Given the description of an element on the screen output the (x, y) to click on. 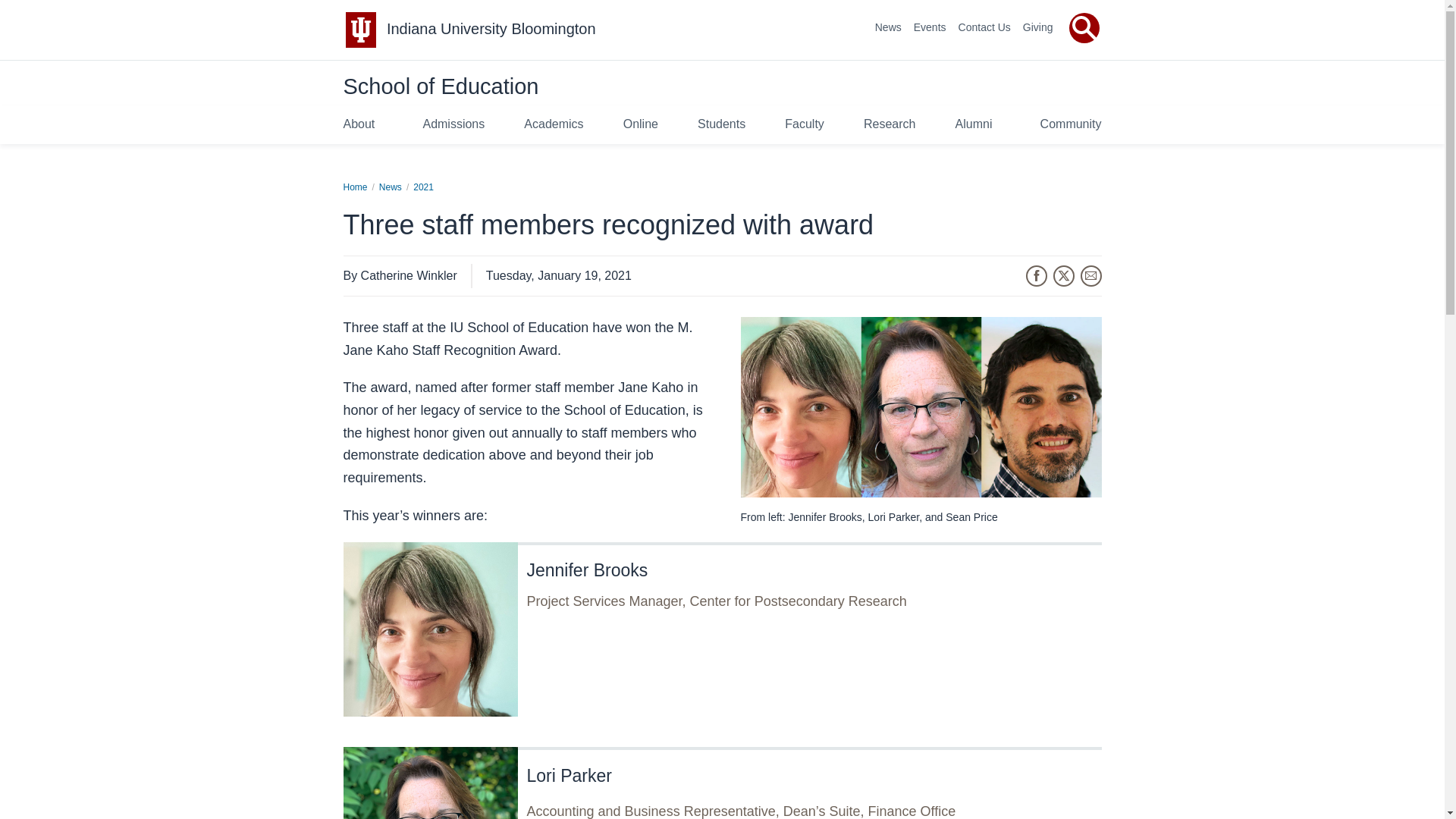
Indiana University Bloomington (491, 28)
Indiana University Bloomington (491, 28)
